Given the description of an element on the screen output the (x, y) to click on. 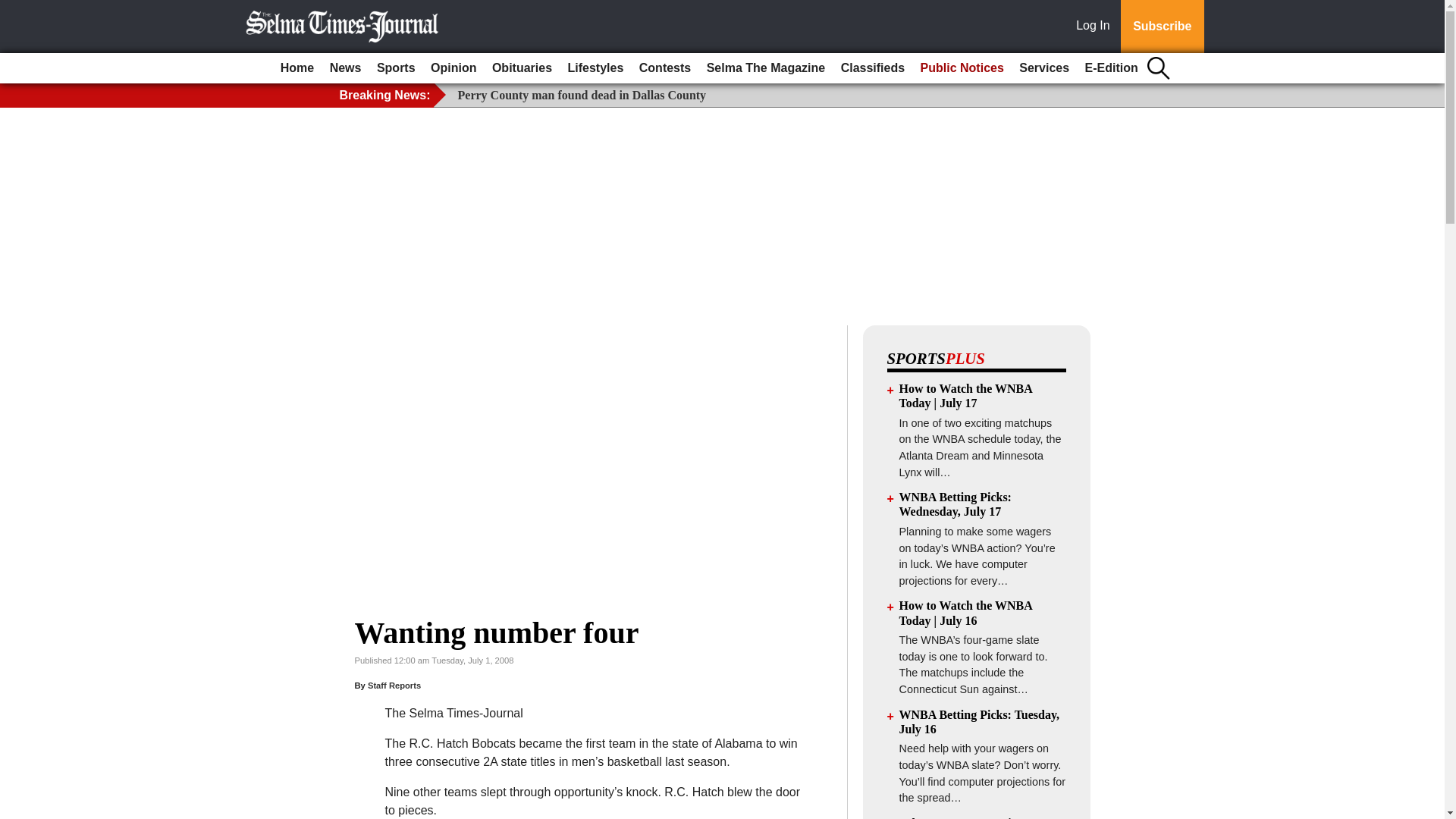
Public Notices (962, 68)
Staff Reports (394, 685)
Services (1044, 68)
Home (297, 68)
Selma The Magazine (765, 68)
Obituaries (521, 68)
Log In (1095, 26)
Opinion (453, 68)
Classifieds (872, 68)
Go (13, 9)
E-Edition (1111, 68)
Perry County man found dead in Dallas County (582, 94)
WNBA Betting Picks: Tuesday, July 16 (979, 721)
WNBA Betting Picks: Wednesday, July 17 (955, 503)
News (345, 68)
